Given the description of an element on the screen output the (x, y) to click on. 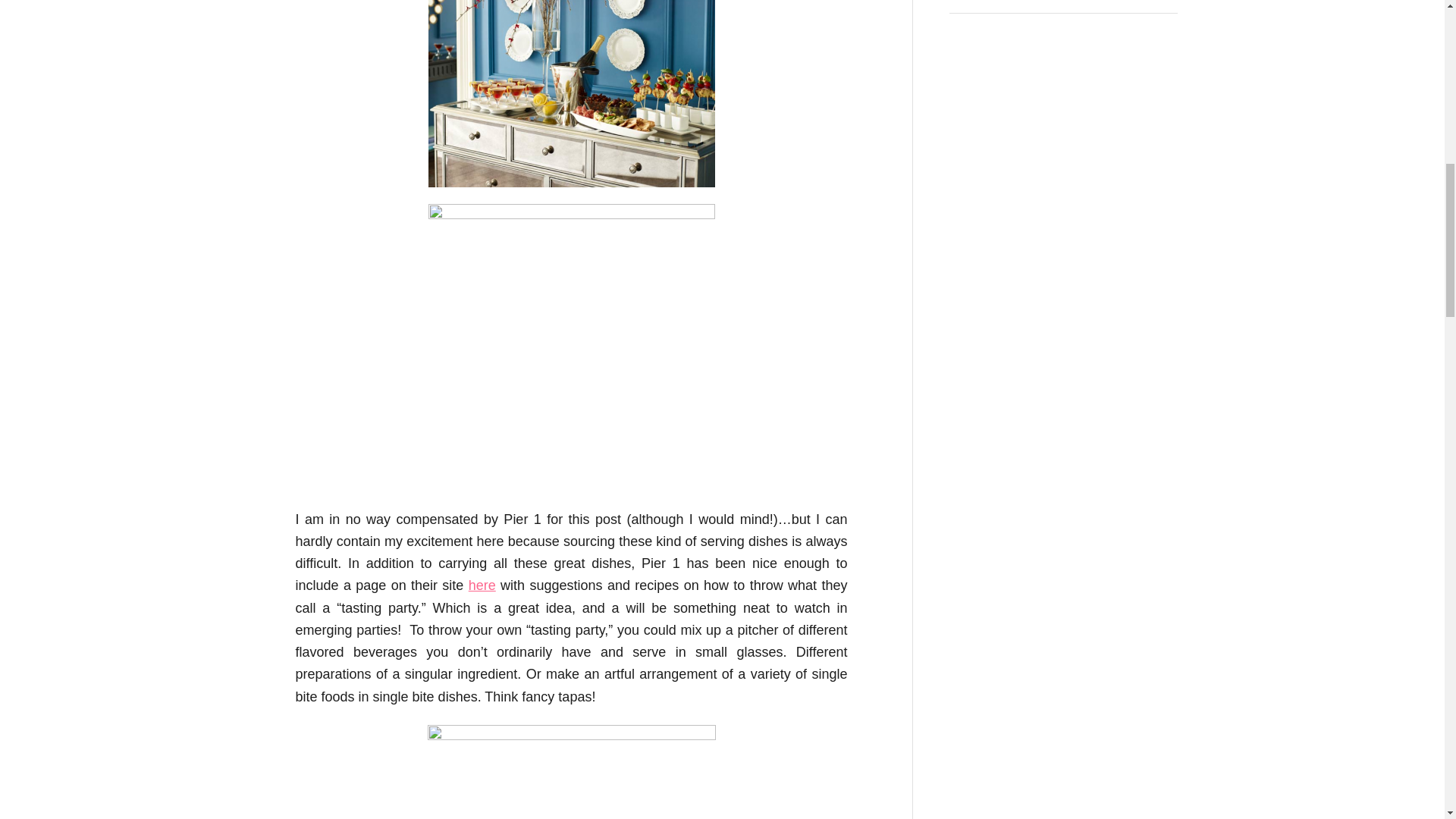
here (482, 585)
Picture 13 (571, 347)
Picture 15 (571, 93)
